Given the description of an element on the screen output the (x, y) to click on. 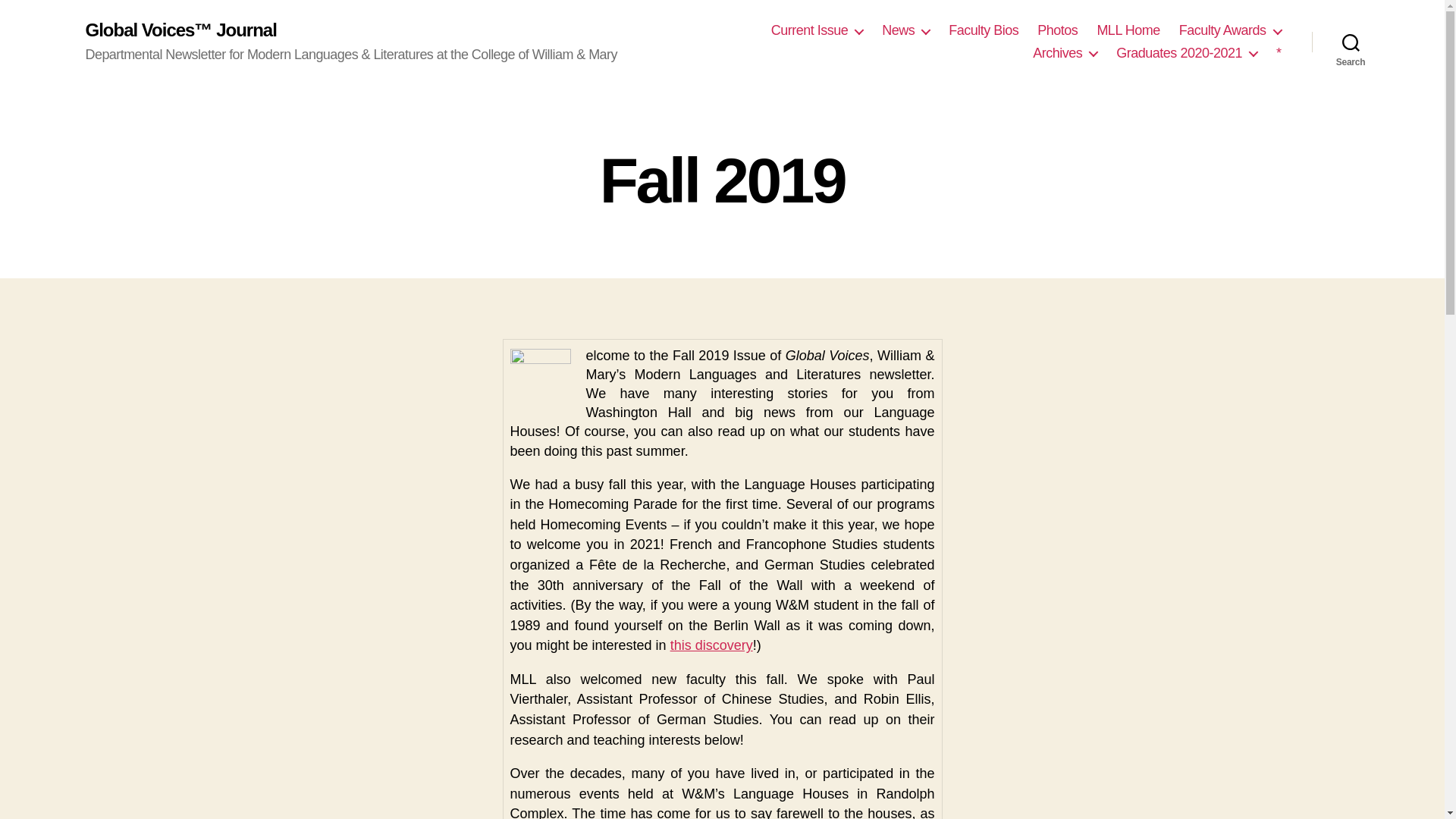
News (906, 30)
Current Issue (817, 30)
Photos (1056, 30)
w (539, 369)
Faculty Bios (983, 30)
MLL Home (1127, 30)
Faculty Awards (1230, 30)
Archives (1064, 53)
